Given the description of an element on the screen output the (x, y) to click on. 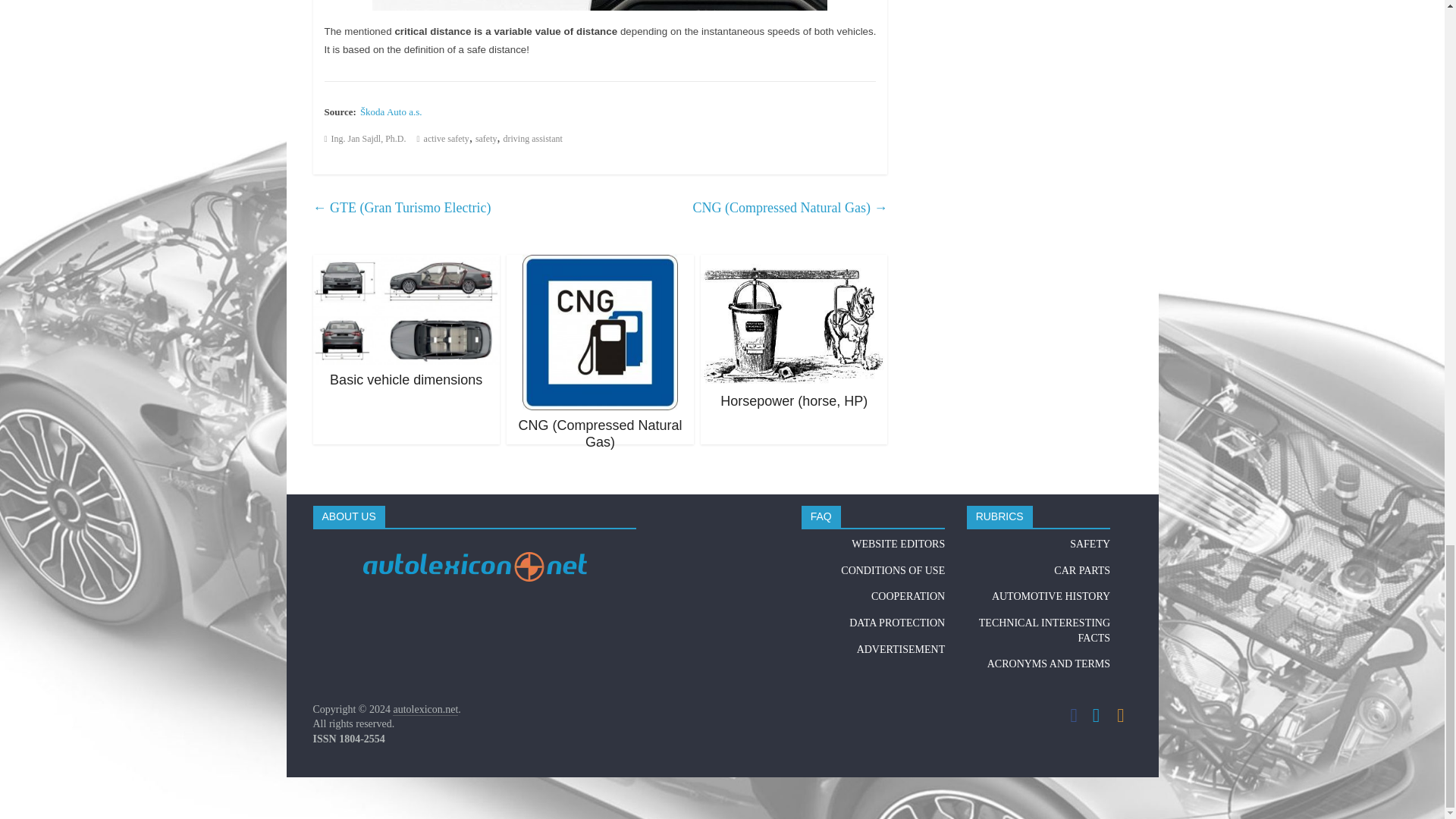
Ing. Jan Sajdl, Ph.D. (368, 138)
Basic vehicle dimensions (405, 379)
Basic vehicle dimensions (406, 264)
